Given the description of an element on the screen output the (x, y) to click on. 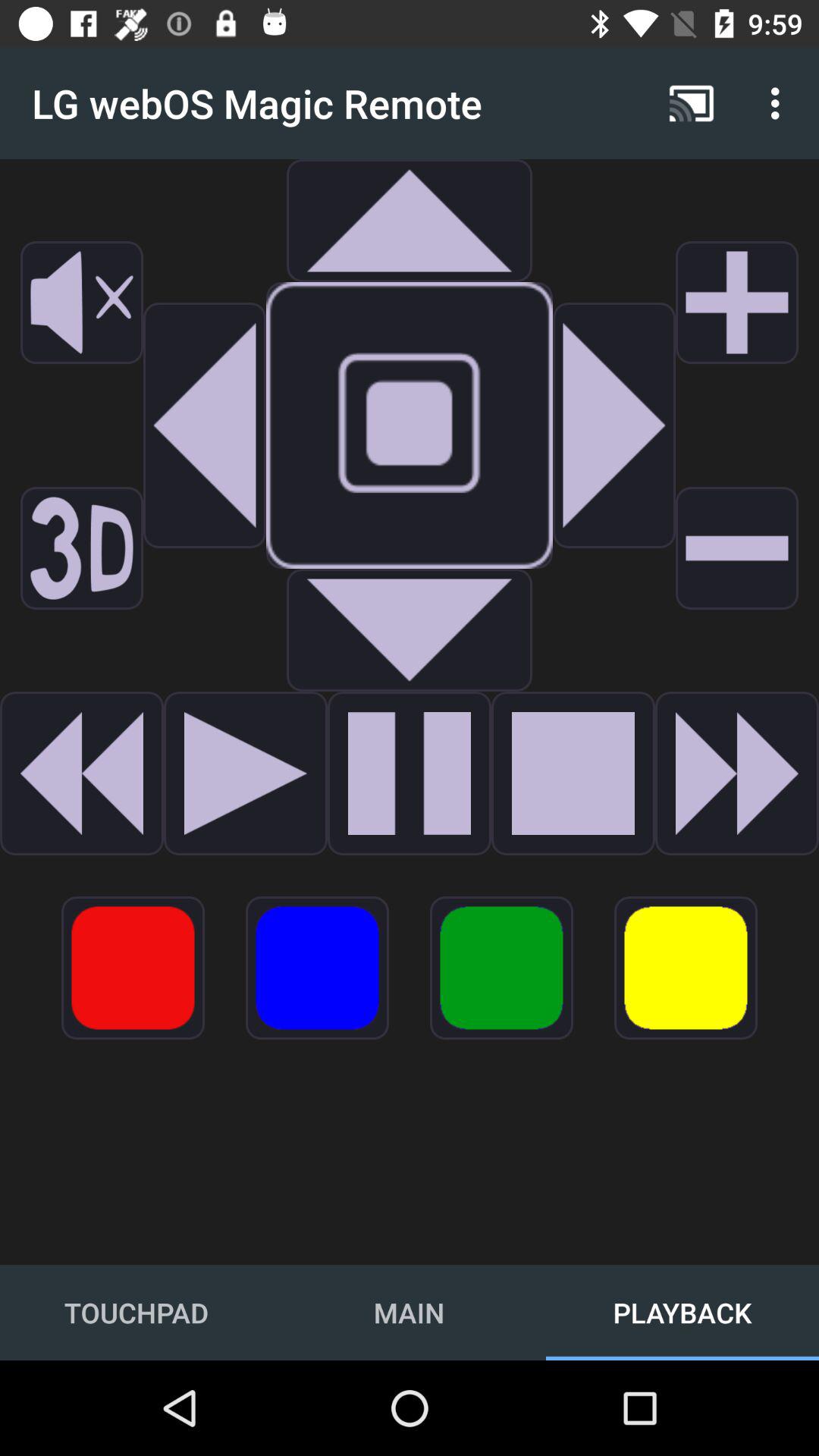
left navigation (204, 425)
